Given the description of an element on the screen output the (x, y) to click on. 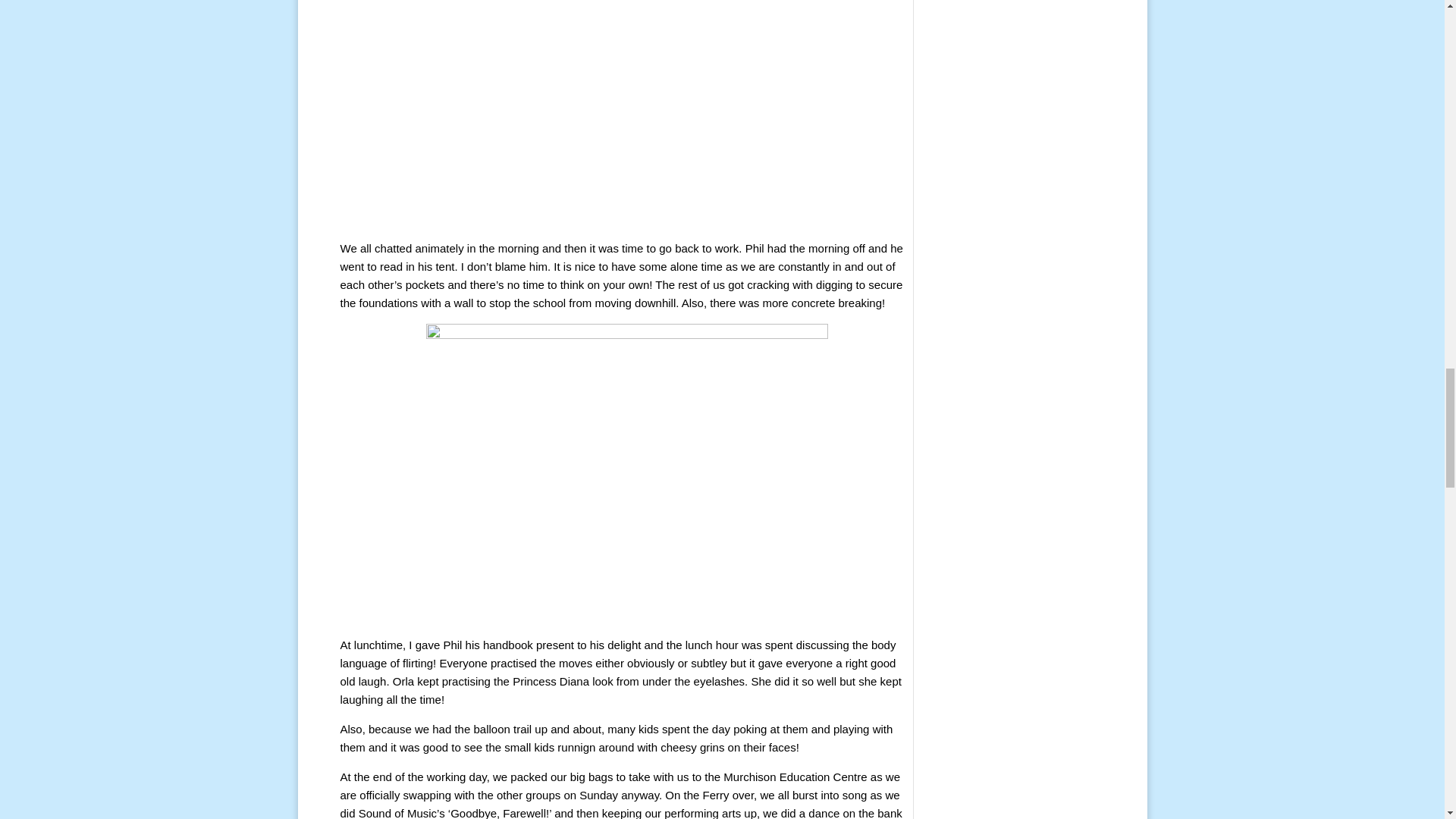
Burtie does mean work! (627, 473)
Phil's Birthday! (627, 114)
